Given the description of an element on the screen output the (x, y) to click on. 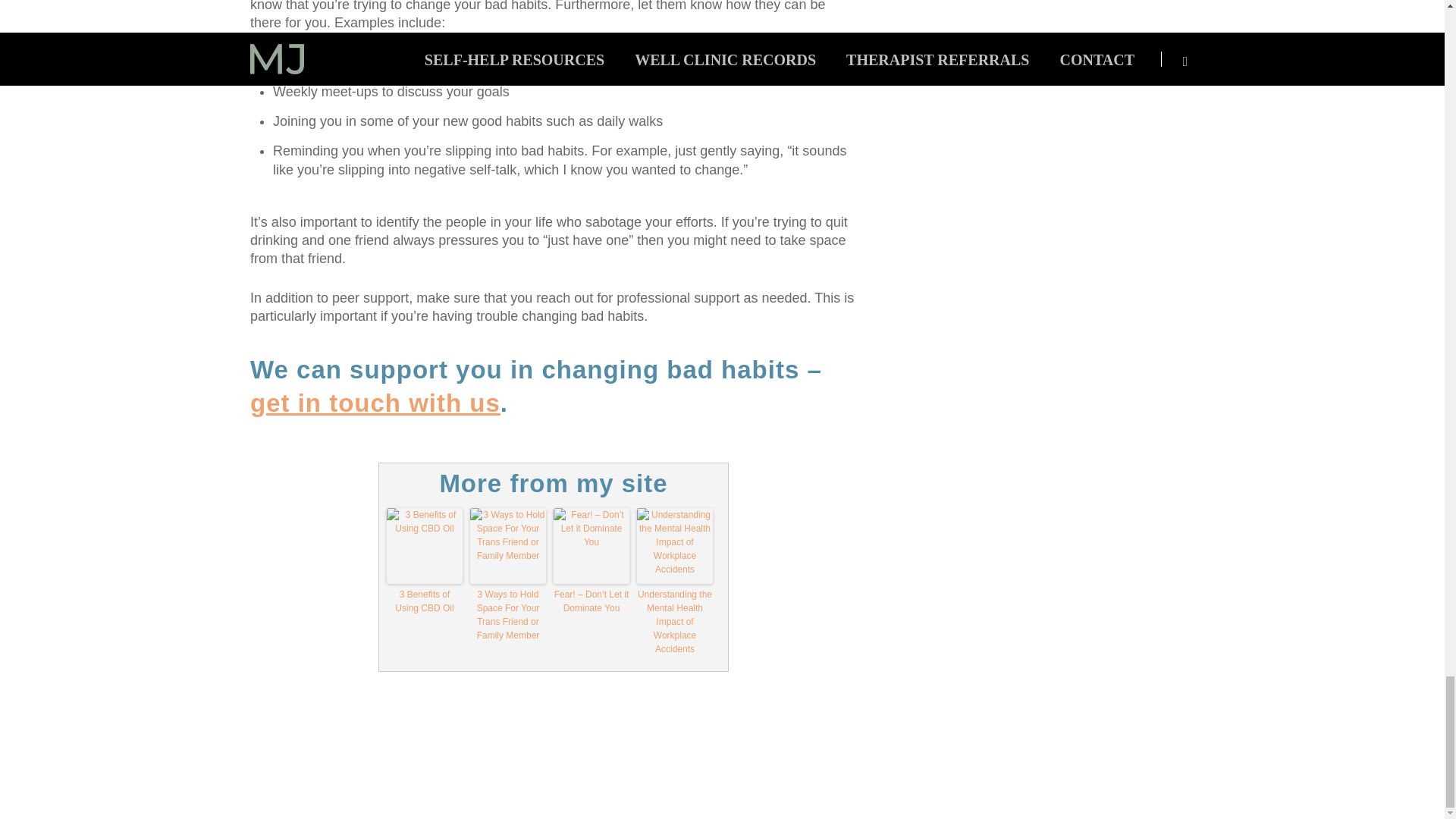
3 Benefits of Using CBD Oil (425, 601)
3 Ways to Hold Space For Your Trans Friend or Family Member (508, 615)
get in touch with us (375, 402)
